Given the description of an element on the screen output the (x, y) to click on. 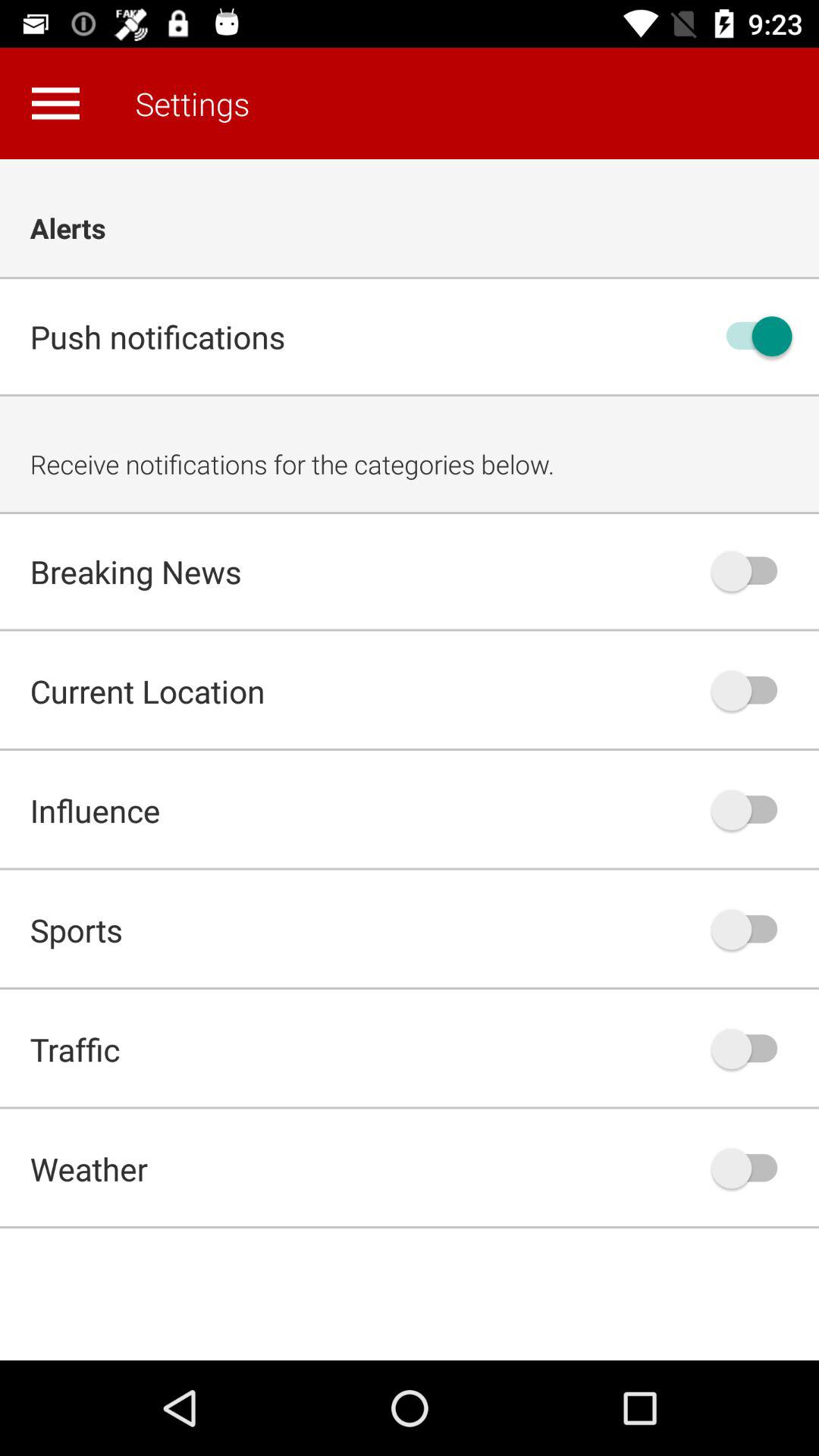
auto play option (751, 1049)
